Given the description of an element on the screen output the (x, y) to click on. 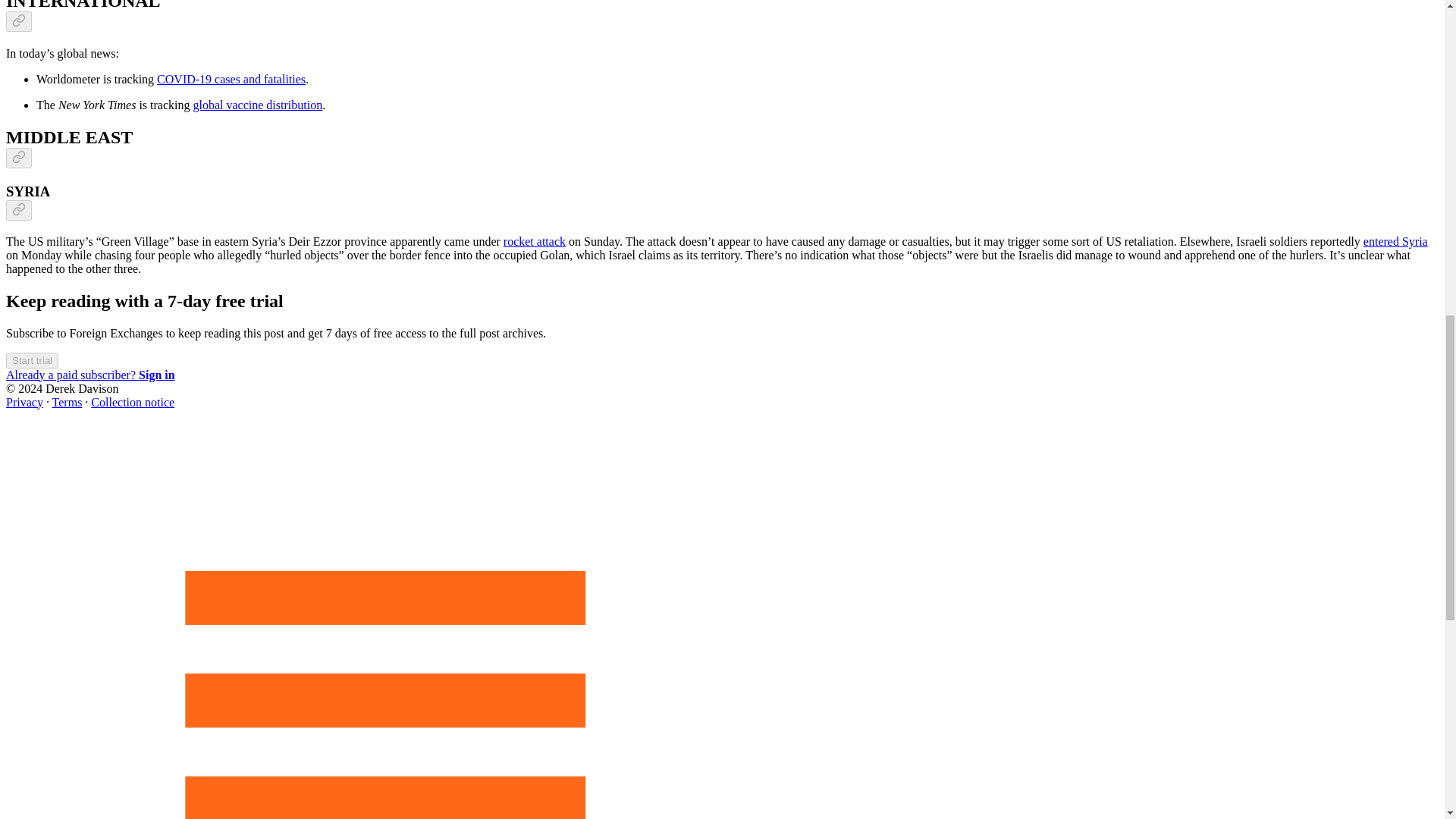
rocket attack (534, 241)
entered Syria (1395, 241)
Start trial (31, 360)
COVID-19 cases and fatalities (231, 78)
Terms (67, 401)
global vaccine distribution (258, 104)
Already a paid subscriber? Sign in (89, 374)
Collection notice (132, 401)
Start trial (31, 359)
Privacy (24, 401)
